Given the description of an element on the screen output the (x, y) to click on. 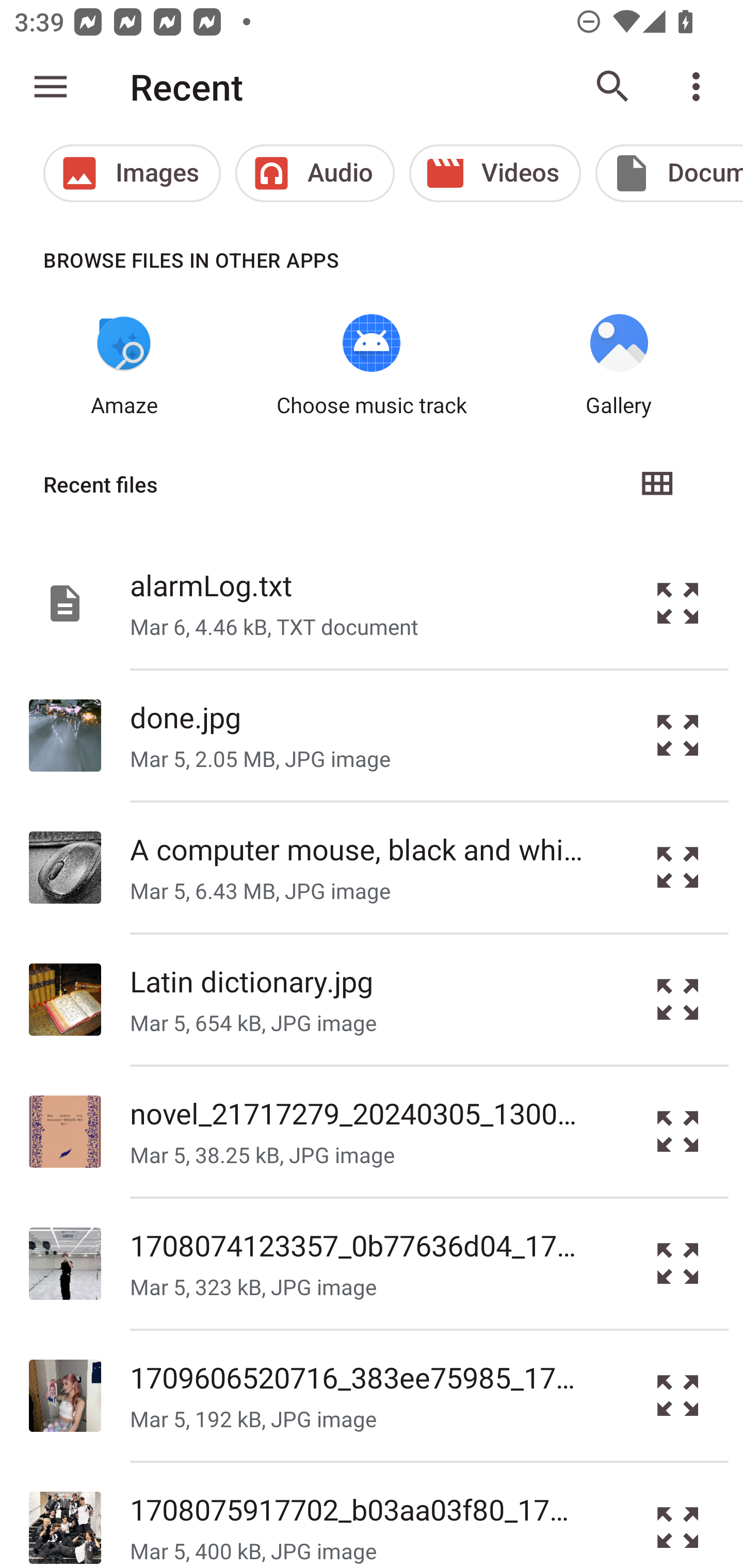
Show roots (50, 86)
Search (612, 86)
More options (699, 86)
Images (131, 173)
Audio (314, 173)
Videos (495, 173)
Documents (669, 173)
Amaze (123, 365)
Choose music track (371, 365)
Gallery (619, 365)
Grid view (655, 484)
Preview the file alarmLog.txt (677, 602)
Preview the file done.jpg (677, 736)
Preview the file Latin dictionary.jpg (677, 999)
